Given the description of an element on the screen output the (x, y) to click on. 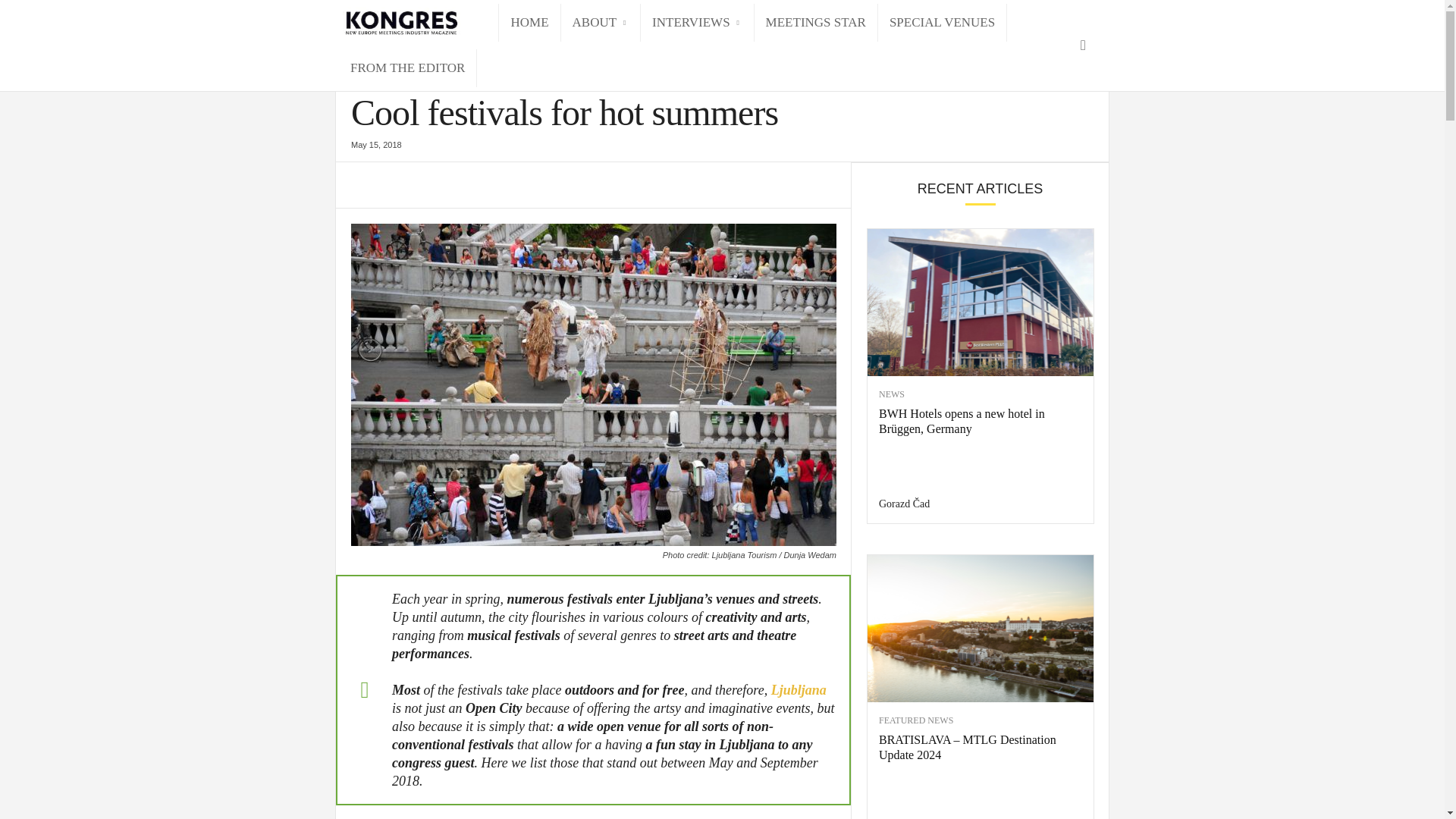
INCENTIVE IDEAS (385, 77)
INTERVIEWS (697, 22)
PARTNER STORIES (420, 62)
MEETINGS STAR (815, 22)
FROM THE EDITOR (407, 67)
SPECIAL VENUES (941, 22)
View all posts in PARTNER STORIES (420, 62)
ABOUT (600, 22)
HOME (529, 22)
